Given the description of an element on the screen output the (x, y) to click on. 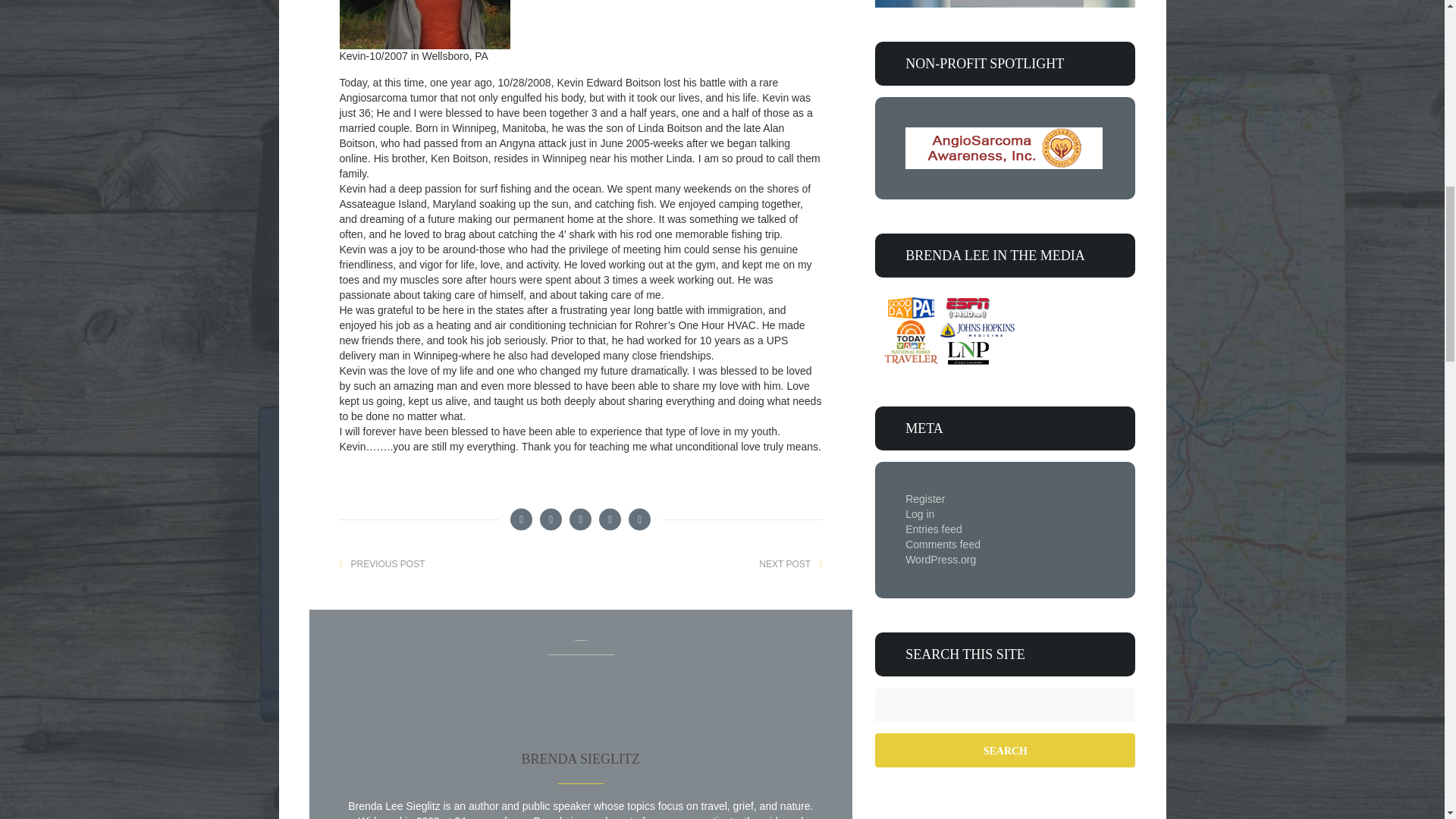
PREVIOUS POST (387, 563)
Search (1005, 750)
NEXT POST (785, 563)
kevin (425, 24)
